Given the description of an element on the screen output the (x, y) to click on. 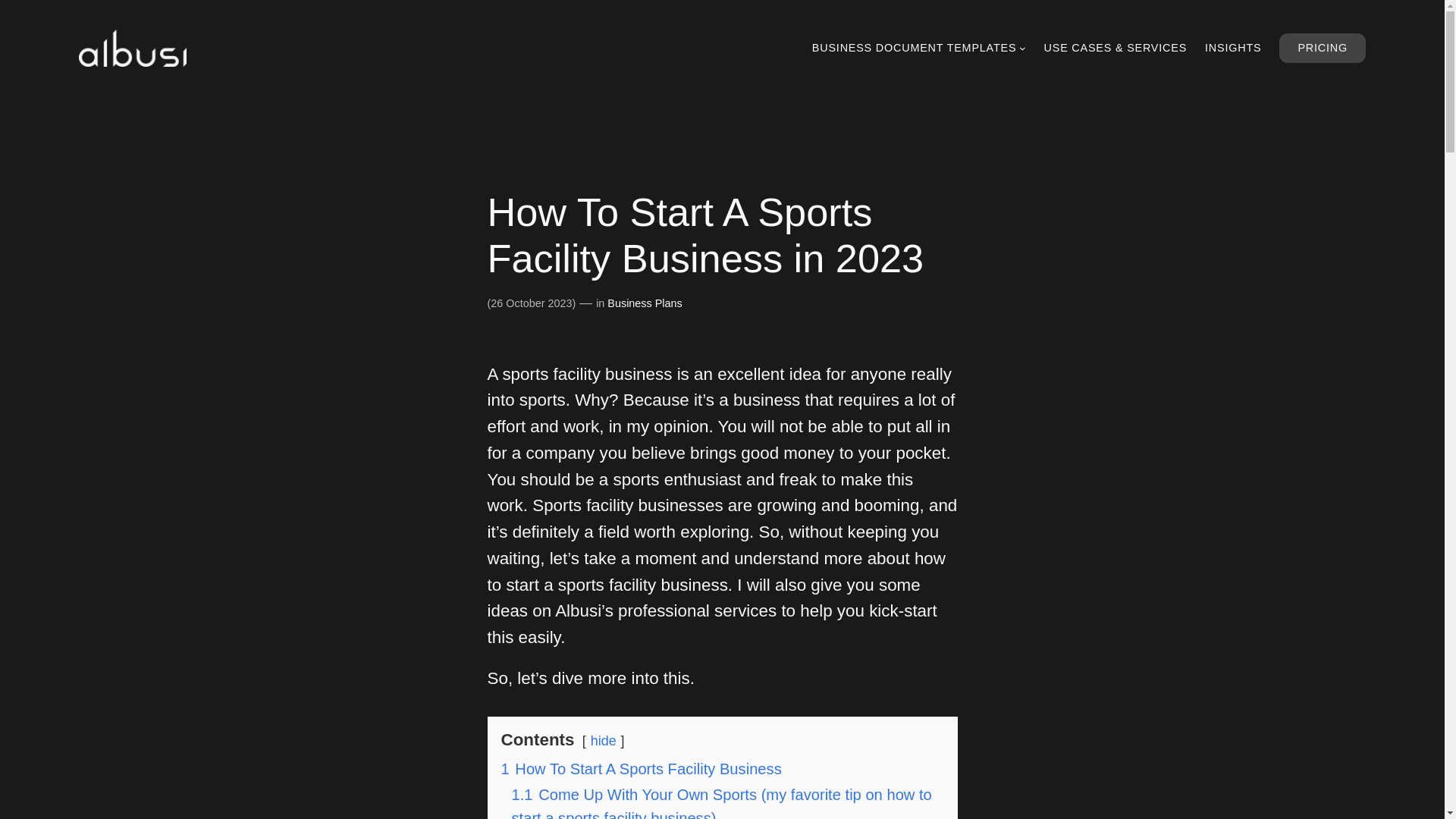
BUSINESS DOCUMENT TEMPLATES (914, 47)
PRICING (1322, 47)
INSIGHTS (1232, 47)
1 How To Start A Sports Facility Business (640, 768)
Business Plans (644, 303)
hide (603, 740)
